Given the description of an element on the screen output the (x, y) to click on. 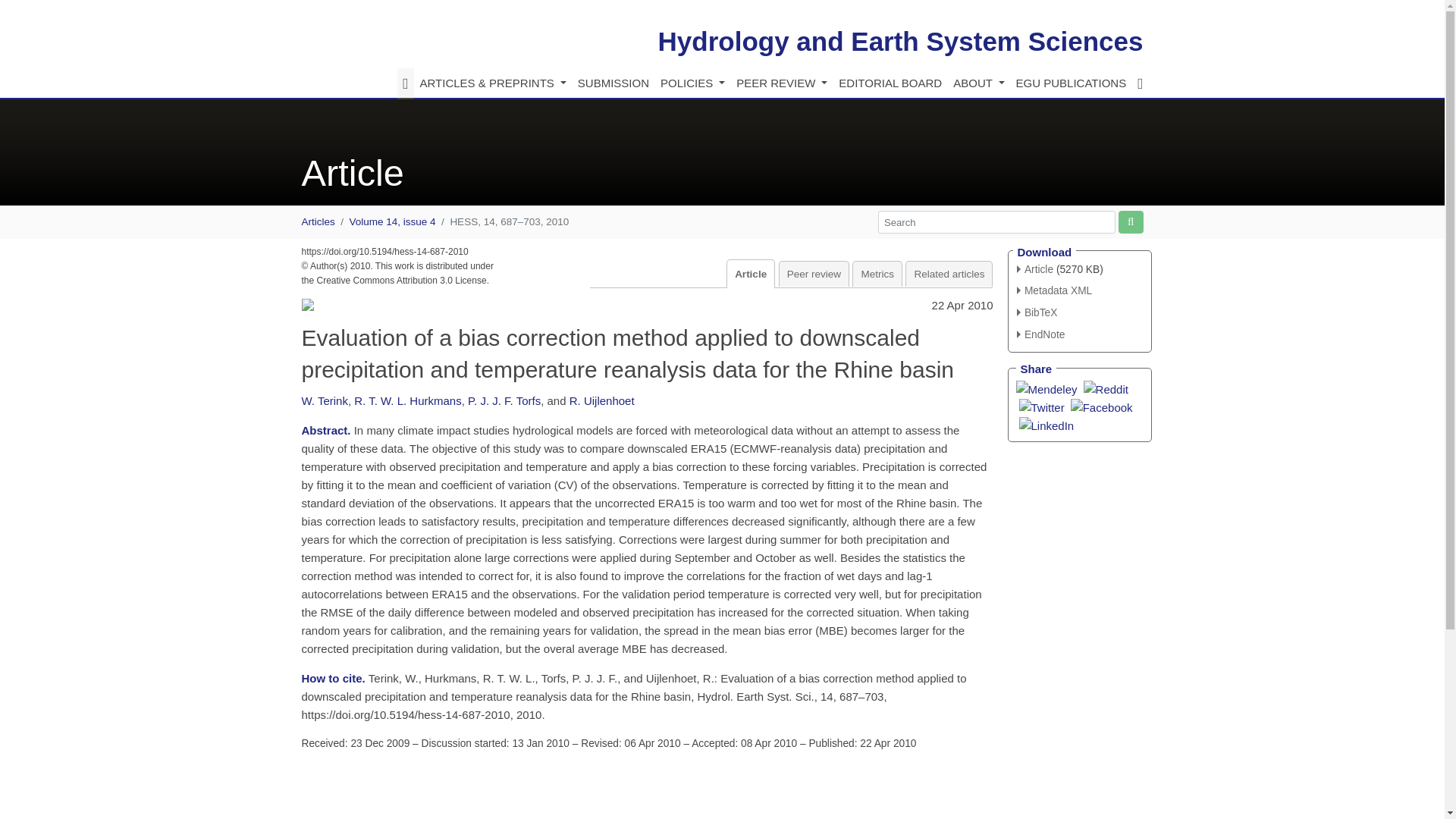
Start site search (1130, 221)
PEER REVIEW (781, 83)
SUBMISSION (612, 83)
XML Version (1054, 290)
Mendeley (1046, 388)
Hydrology and Earth System Sciences (900, 41)
Reddit (1105, 388)
Facebook (1101, 406)
Twitter (1041, 406)
POLICIES (691, 83)
